Given the description of an element on the screen output the (x, y) to click on. 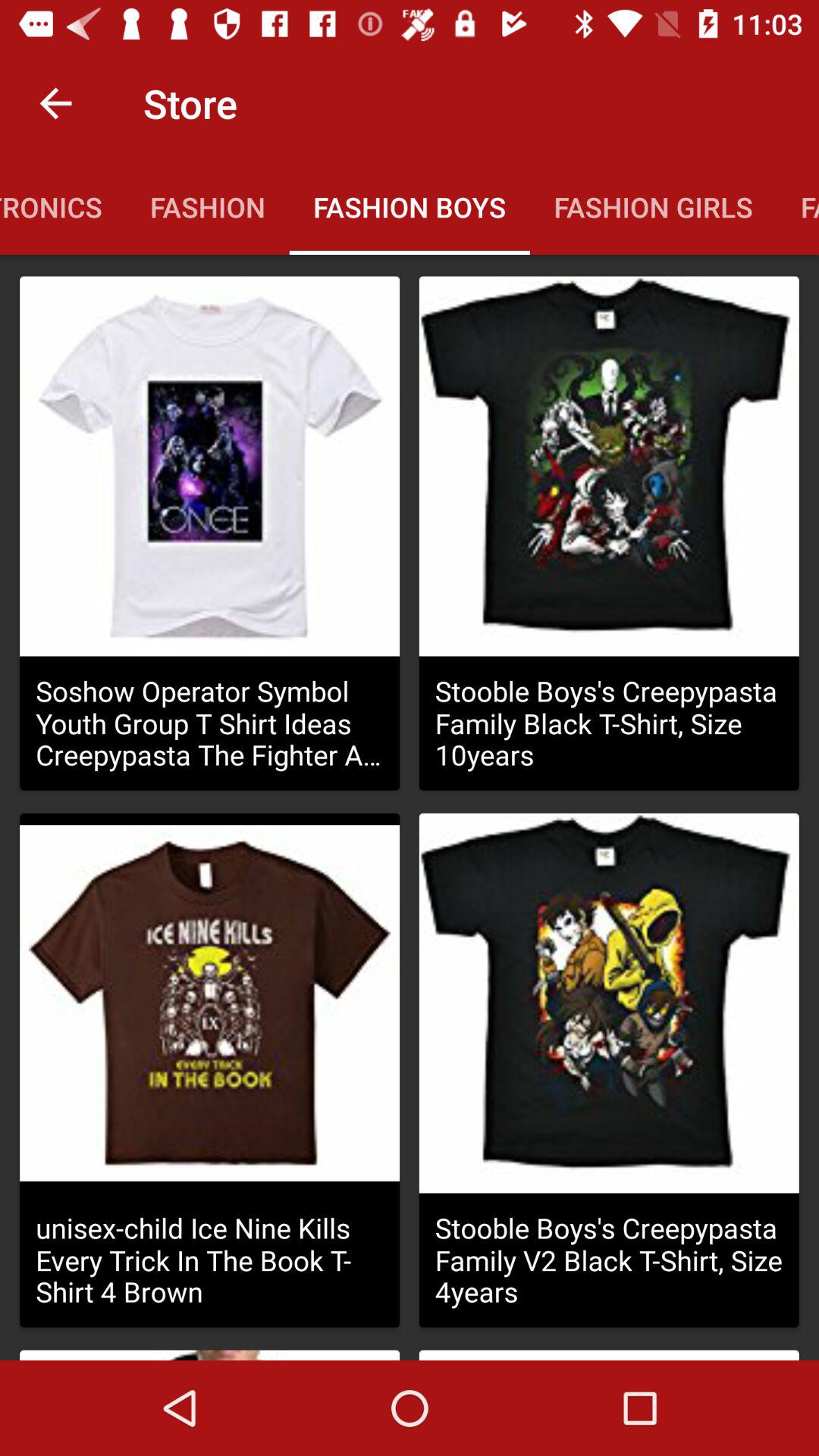
open item next to store item (55, 103)
